Given the description of an element on the screen output the (x, y) to click on. 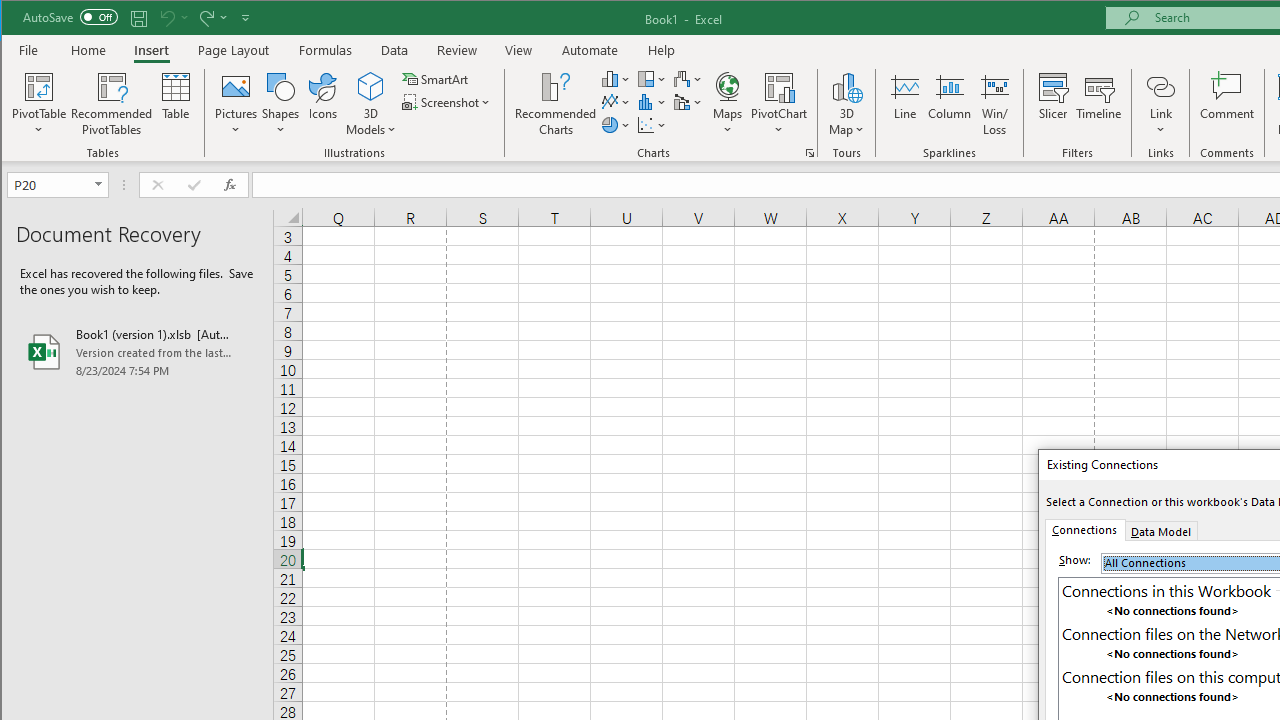
Comment (1227, 104)
Insert Scatter (X, Y) or Bubble Chart (652, 124)
Insert Pie or Doughnut Chart (616, 124)
Column (949, 104)
Insert Column or Bar Chart (616, 78)
Slicer... (1052, 104)
Table (175, 104)
Insert Combo Chart (688, 101)
